Given the description of an element on the screen output the (x, y) to click on. 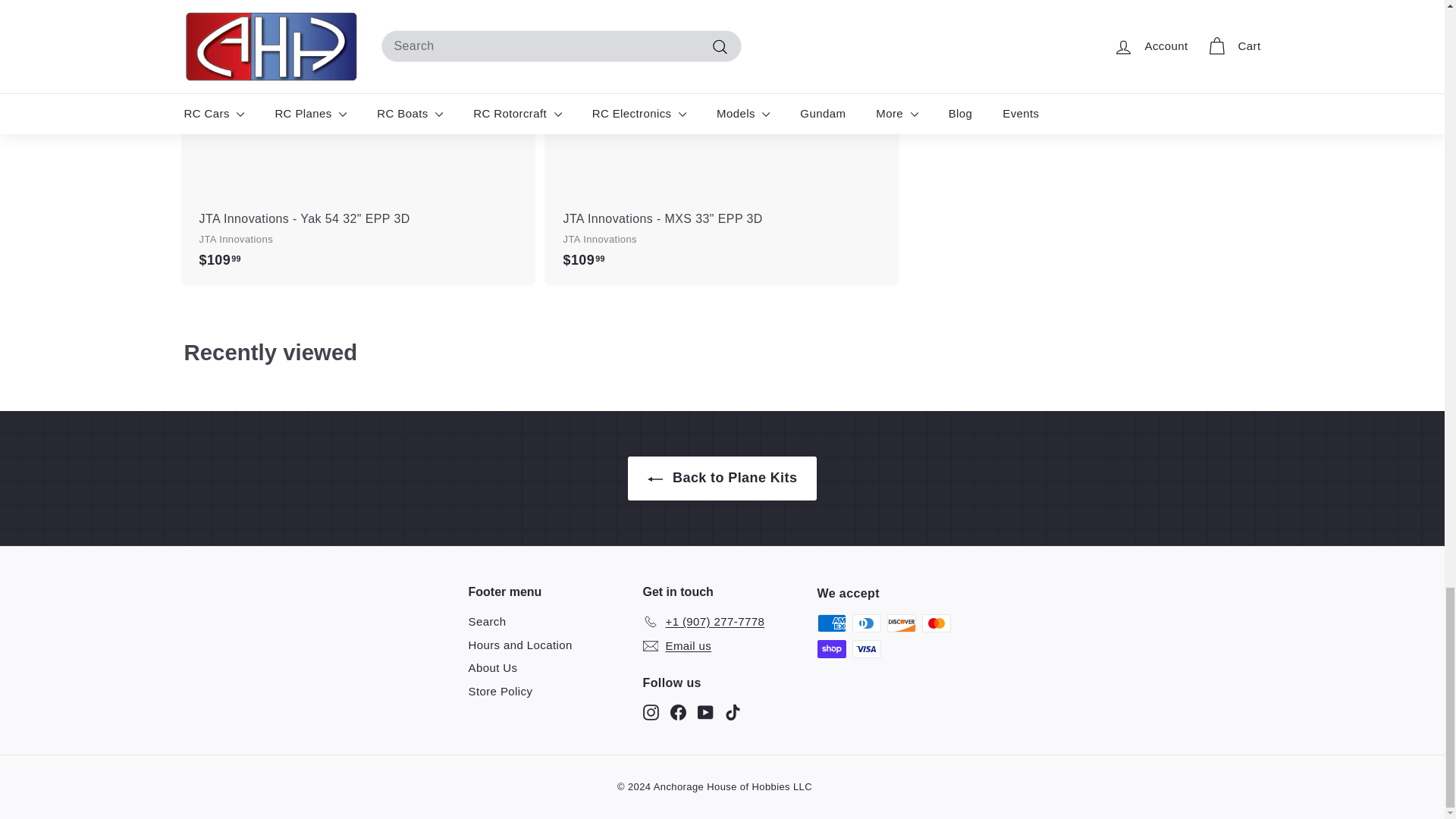
Anchorage House of Hobbies on TikTok (733, 712)
Anchorage House of Hobbies on Facebook (677, 712)
icon-left-arrow (654, 478)
Anchorage House of Hobbies on YouTube (705, 712)
Anchorage House of Hobbies on Instagram (651, 712)
